Given the description of an element on the screen output the (x, y) to click on. 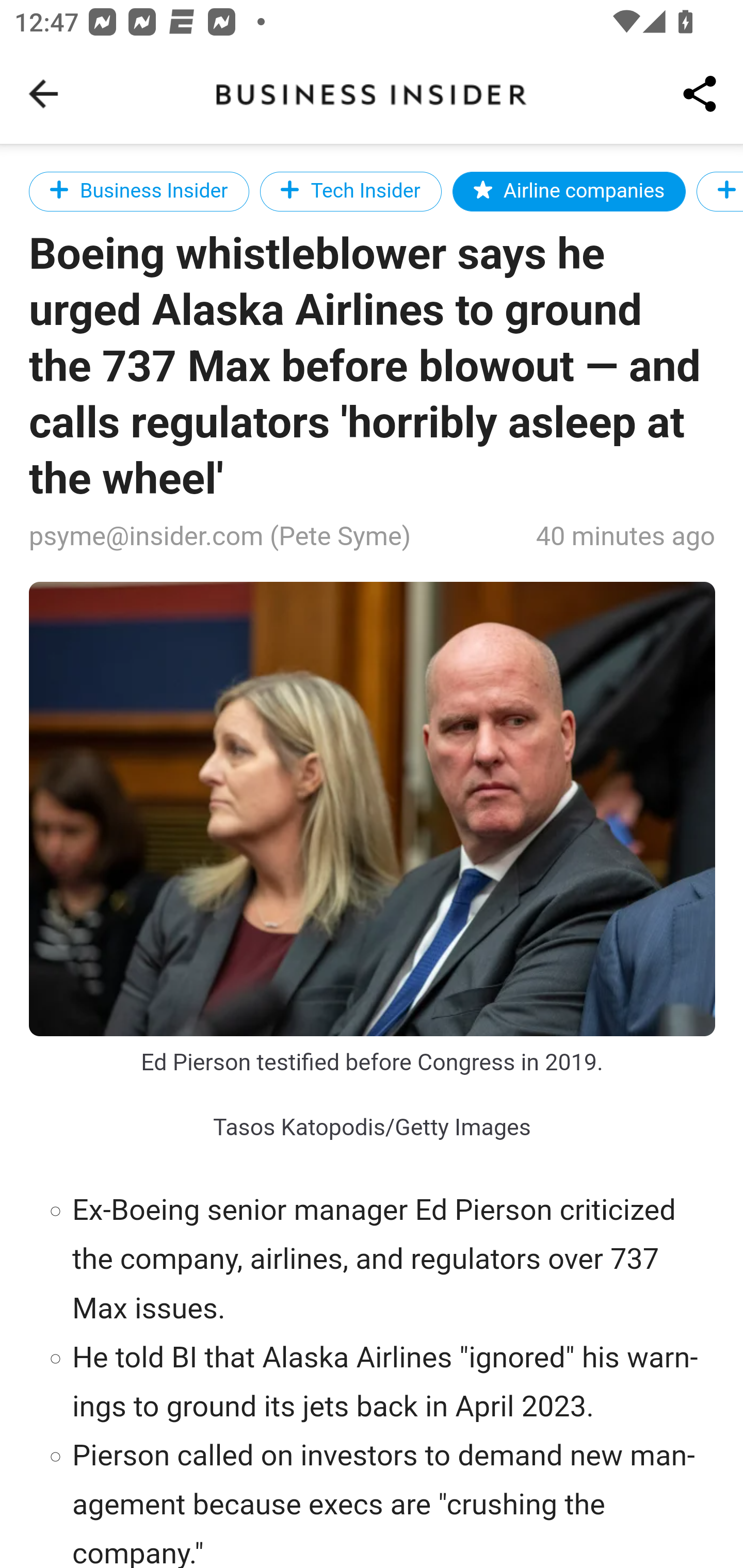
Business Insider (138, 191)
Tech Insider (349, 191)
Airline companies (569, 191)
?url=https%3A%2F%2Fi.insider (372, 809)
